Given the description of an element on the screen output the (x, y) to click on. 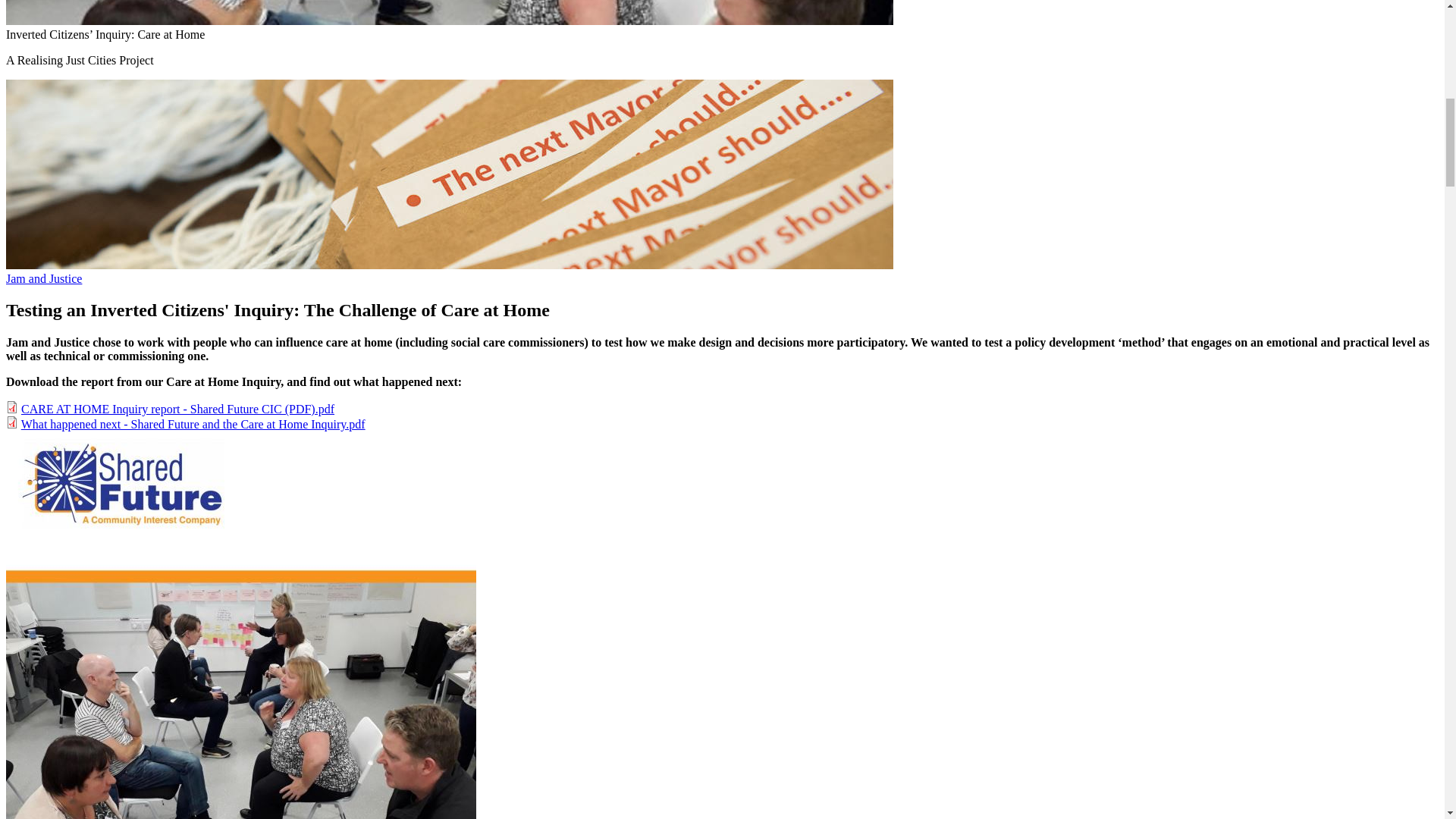
Jam and Justice (43, 277)
